Given the description of an element on the screen output the (x, y) to click on. 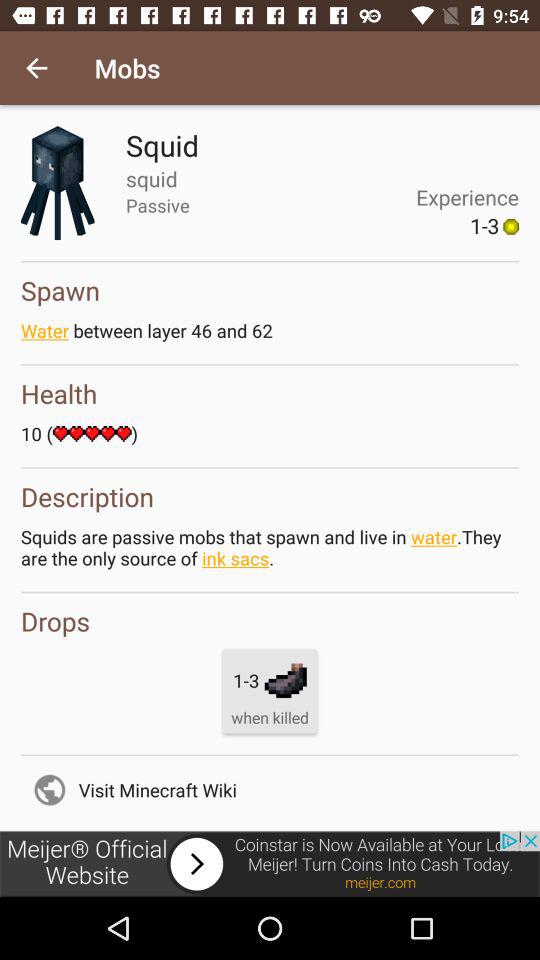
advertisement image (270, 864)
